Given the description of an element on the screen output the (x, y) to click on. 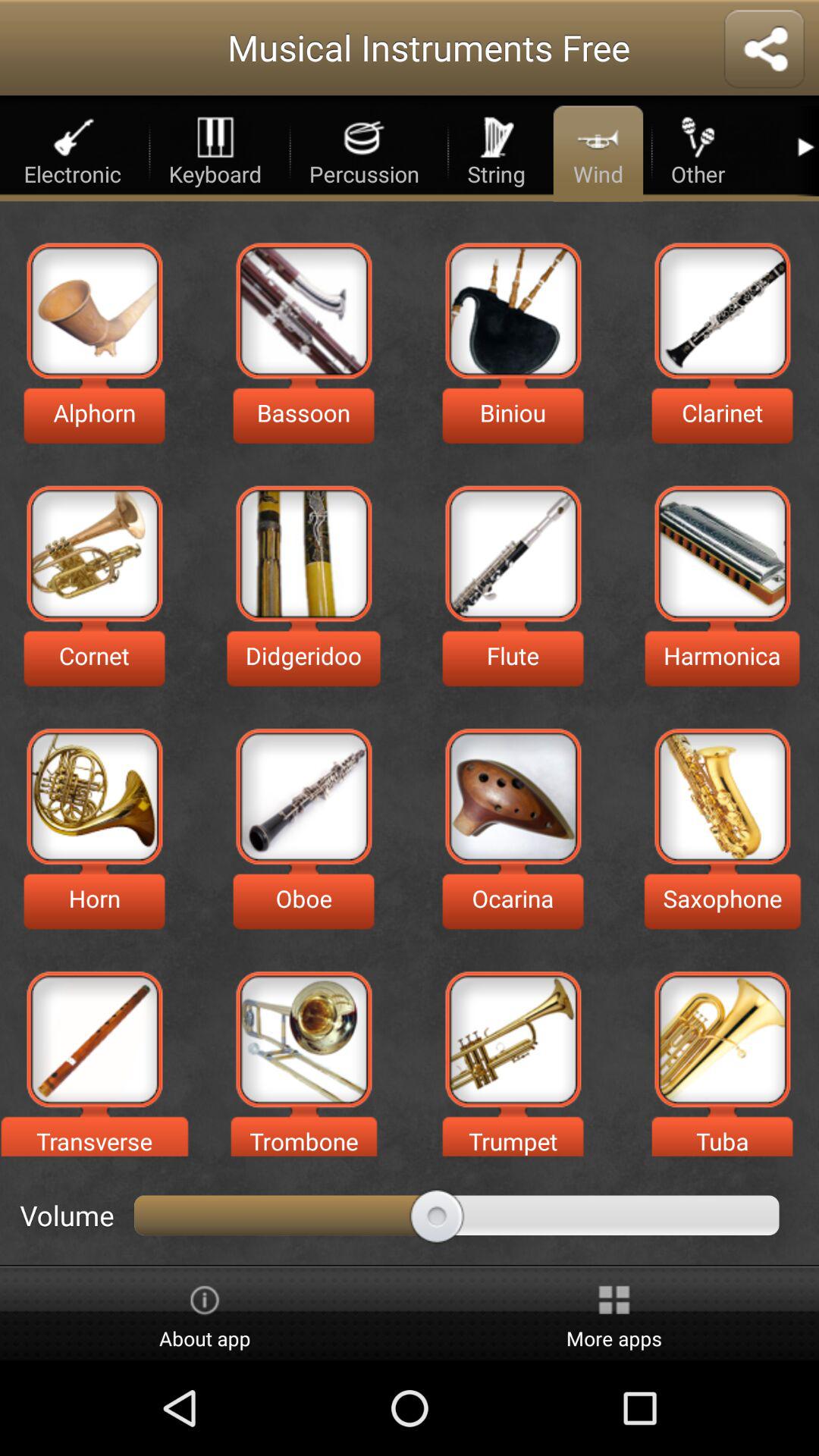
press for cornet (94, 553)
